Given the description of an element on the screen output the (x, y) to click on. 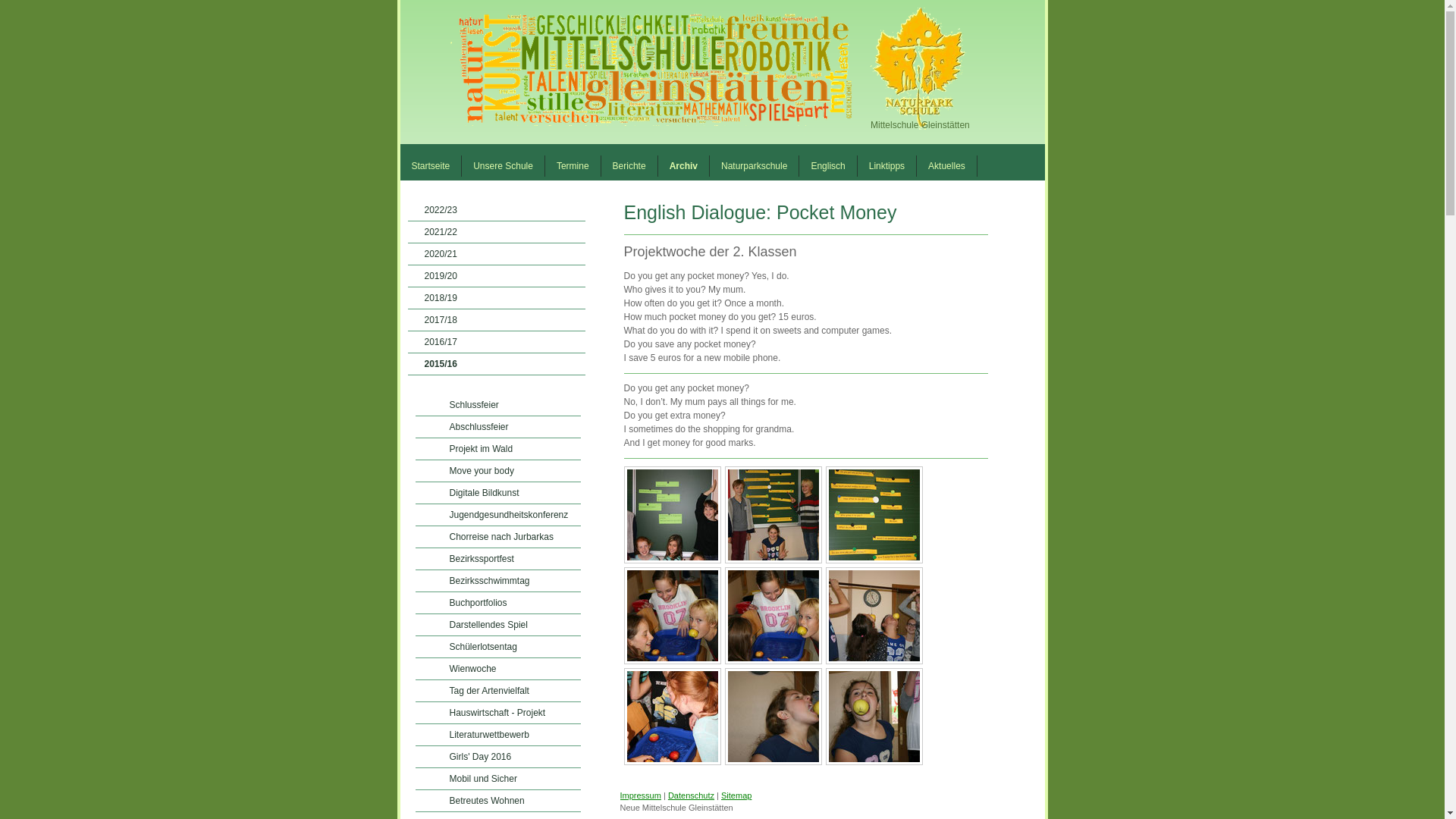
Termine (572, 165)
Bezirksschwimmtag (497, 581)
Wienwoche (497, 669)
Abschlussfeier (497, 427)
Bezirkssportfest (497, 558)
Berichte (629, 165)
Digitale Bildkunst (497, 493)
Darstellendes Spiel (497, 625)
Hauswirtschaft - Projekt (497, 712)
Jugendgesundheitskonferenz (497, 515)
Essen mit allen Sinnen (497, 815)
Aktuelles (946, 165)
Projekt im Wald (497, 449)
Archiv (684, 165)
Literaturwettbewerb (497, 734)
